Given the description of an element on the screen output the (x, y) to click on. 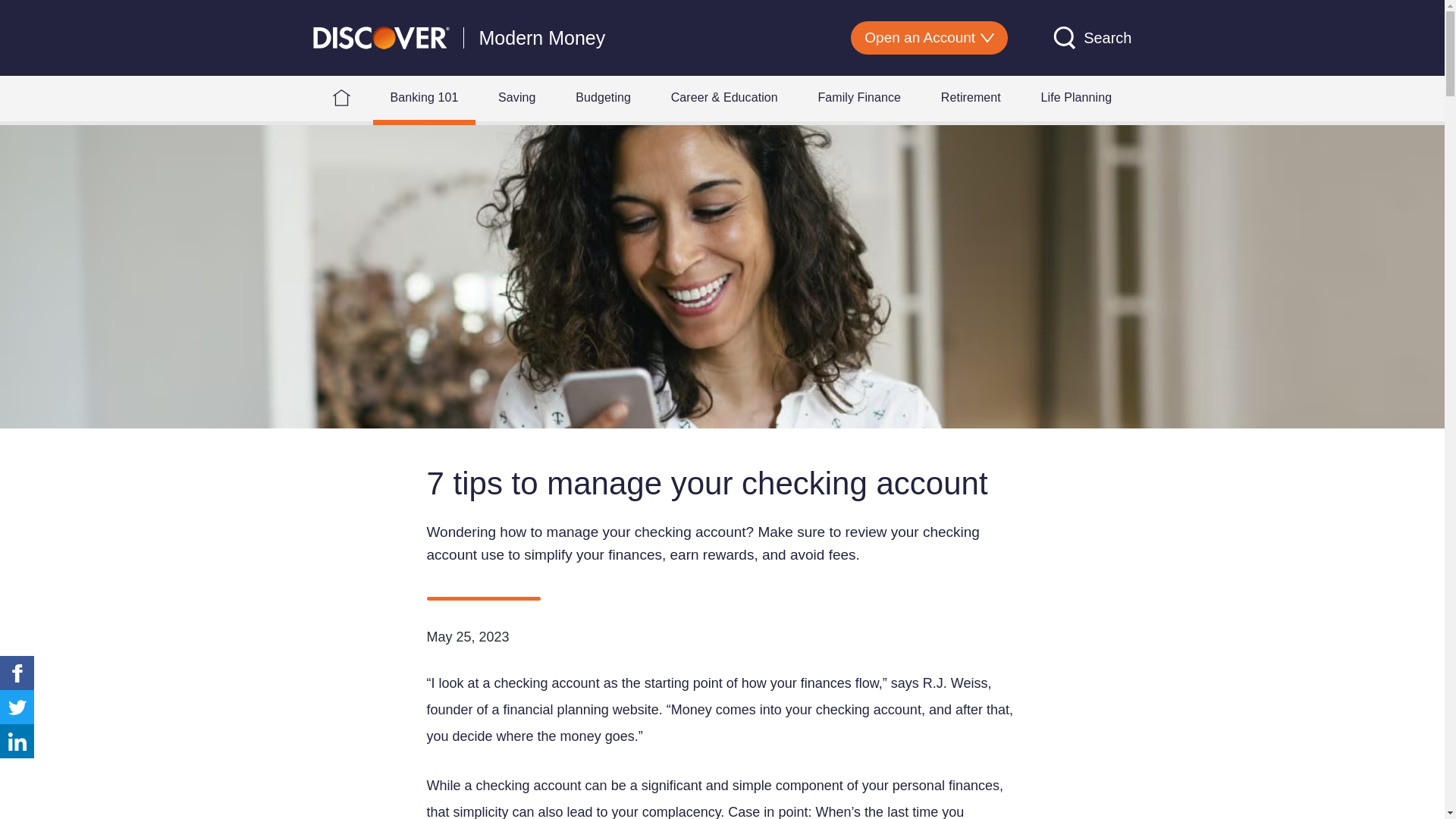
Discover Logo (380, 37)
Life Planning (1076, 97)
Retirement (970, 97)
Banking 101 (424, 97)
Open an Account (928, 37)
Budgeting (602, 97)
Search (1091, 37)
Family Finance (858, 97)
